Given the description of an element on the screen output the (x, y) to click on. 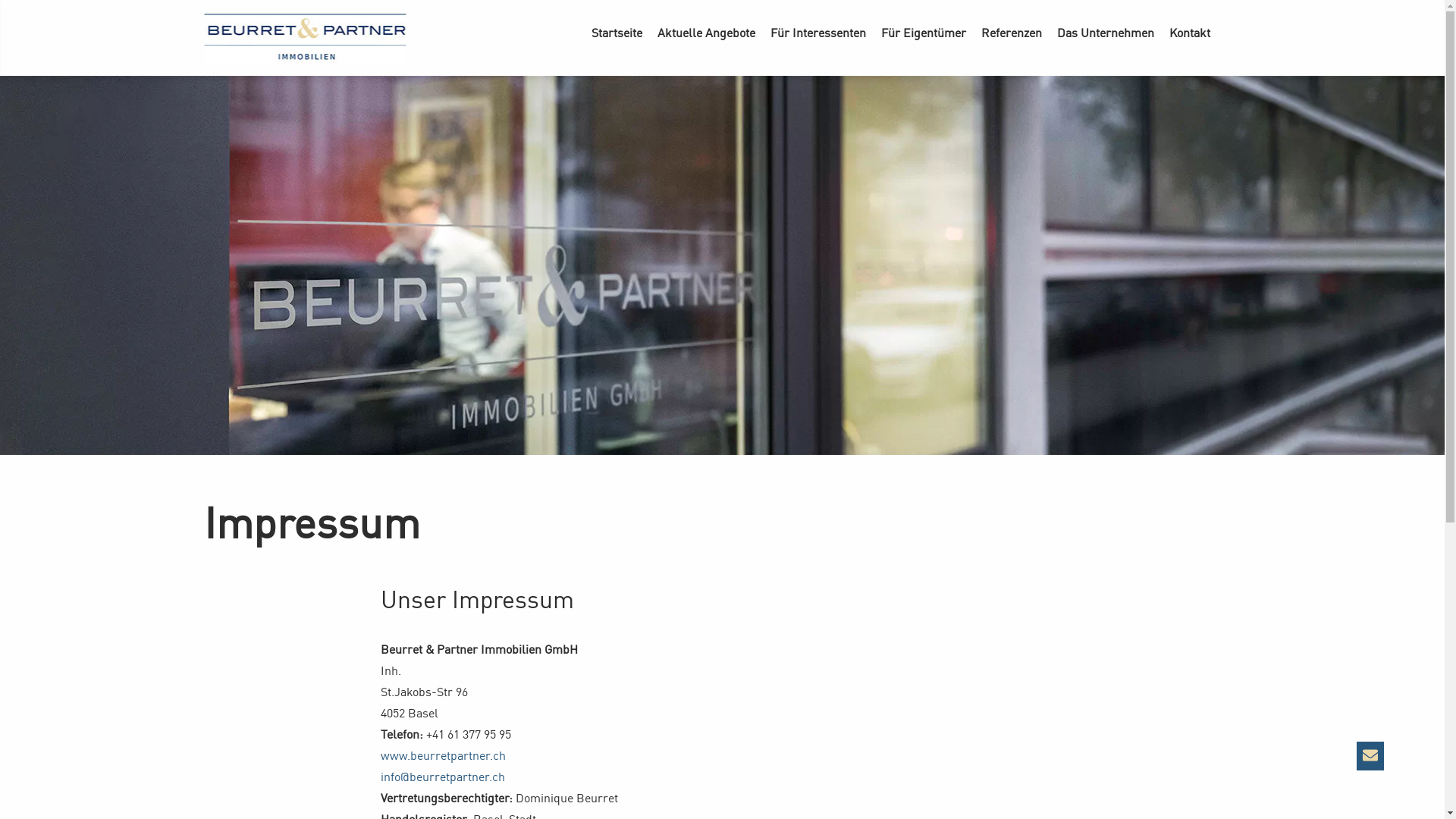
Das Unternehmen Element type: text (1105, 29)
Startseite Element type: text (616, 29)
Aktuelle Angebote Element type: text (706, 29)
Kontakt Element type: text (1189, 29)
www.beurretpartner.ch Element type: text (442, 754)
Referenzen Element type: text (1011, 29)
info@beurretpartner.ch Element type: text (442, 776)
